Given the description of an element on the screen output the (x, y) to click on. 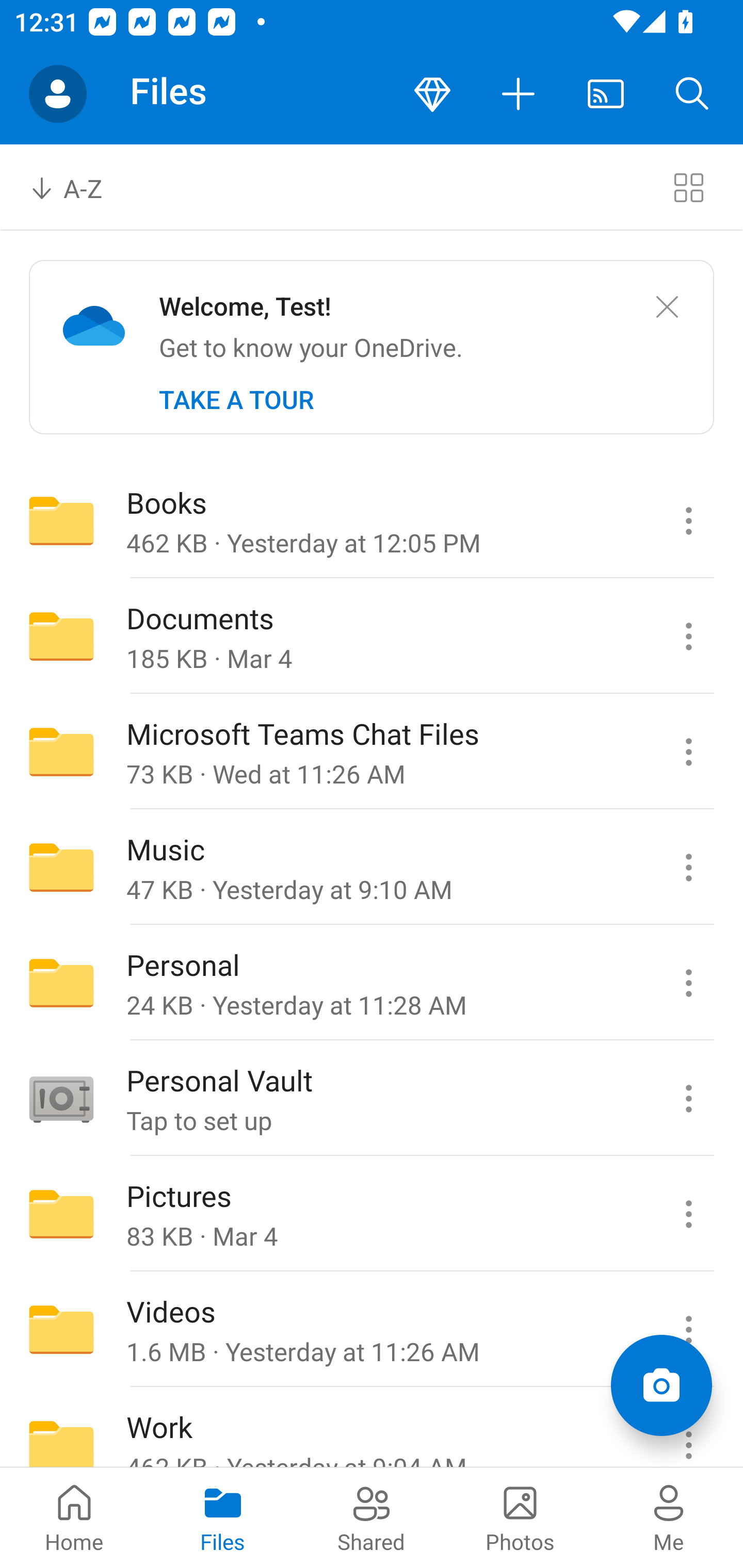
Account switcher (57, 93)
Cast. Disconnected (605, 93)
Premium button (432, 93)
More actions button (518, 93)
Search button (692, 93)
A-Z Sort by combo box, sort by name, A to Z (80, 187)
Switch to tiles view (688, 187)
Close (667, 307)
TAKE A TOUR (236, 399)
Books commands (688, 520)
Folder Documents 185 KB · Mar 4 Documents commands (371, 636)
Documents commands (688, 636)
Microsoft Teams Chat Files commands (688, 751)
Music commands (688, 867)
Personal commands (688, 983)
Personal Vault commands (688, 1099)
Folder Pictures 83 KB · Mar 4 Pictures commands (371, 1214)
Pictures commands (688, 1214)
Videos commands (688, 1329)
Add items Scan (660, 1385)
Work commands (688, 1427)
Home pivot Home (74, 1517)
Shared pivot Shared (371, 1517)
Photos pivot Photos (519, 1517)
Me pivot Me (668, 1517)
